Given the description of an element on the screen output the (x, y) to click on. 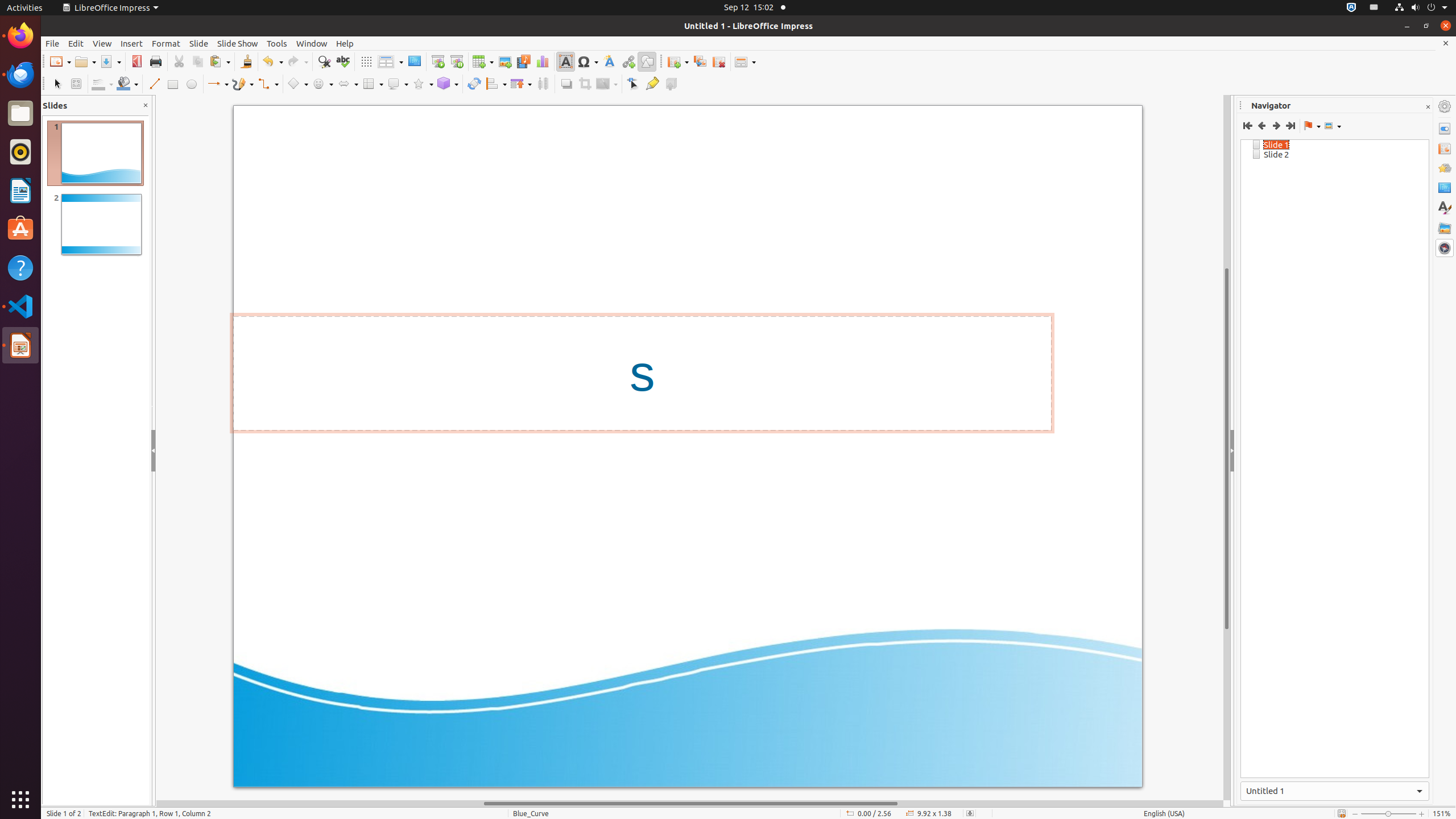
Rhythmbox Element type: push-button (20, 151)
:1.21/StatusNotifierItem Element type: menu (1373, 7)
Rotate Element type: push-button (473, 83)
Gallery Element type: radio-button (1444, 227)
